Given the description of an element on the screen output the (x, y) to click on. 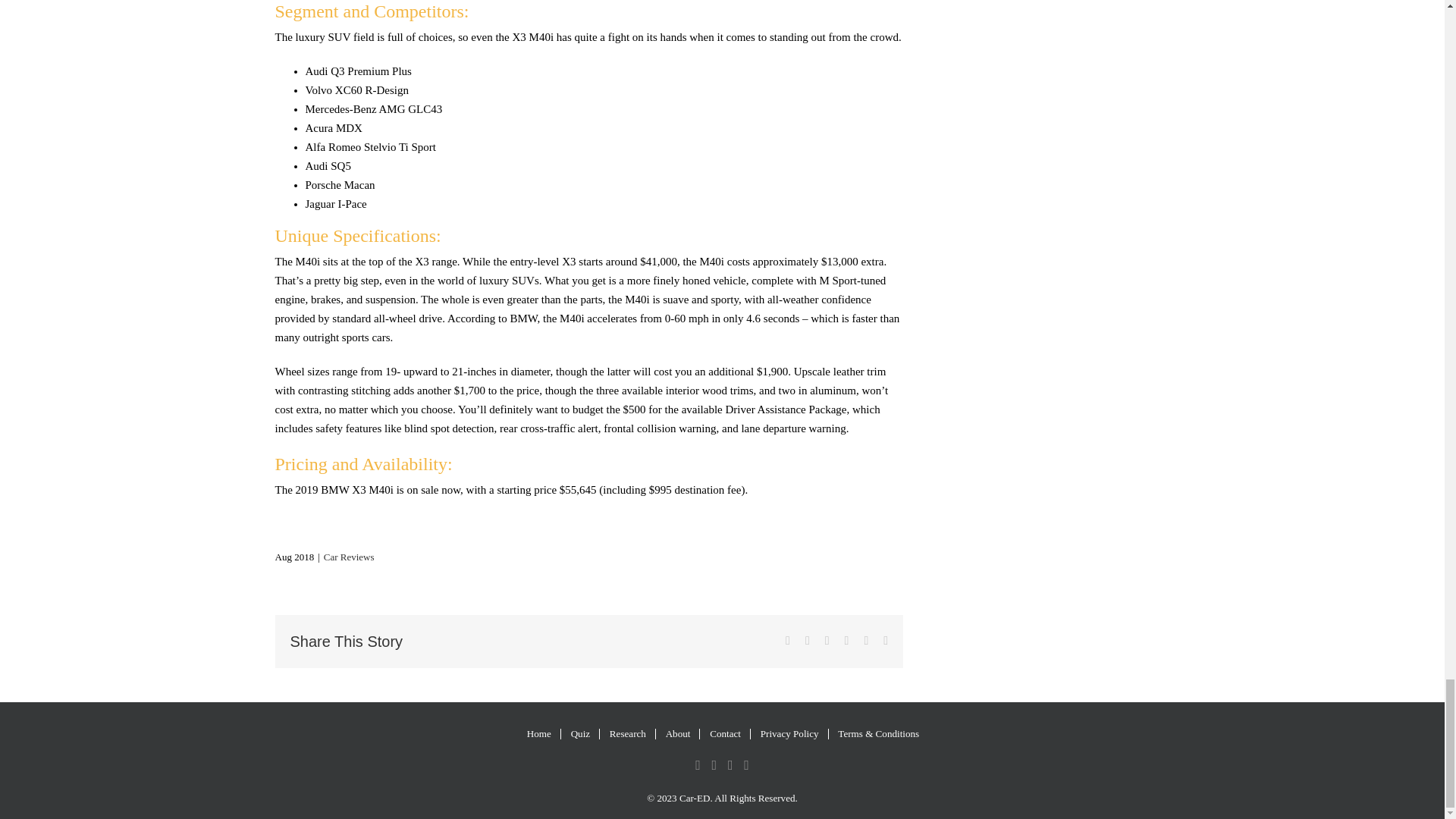
Car Reviews (348, 556)
